Given the description of an element on the screen output the (x, y) to click on. 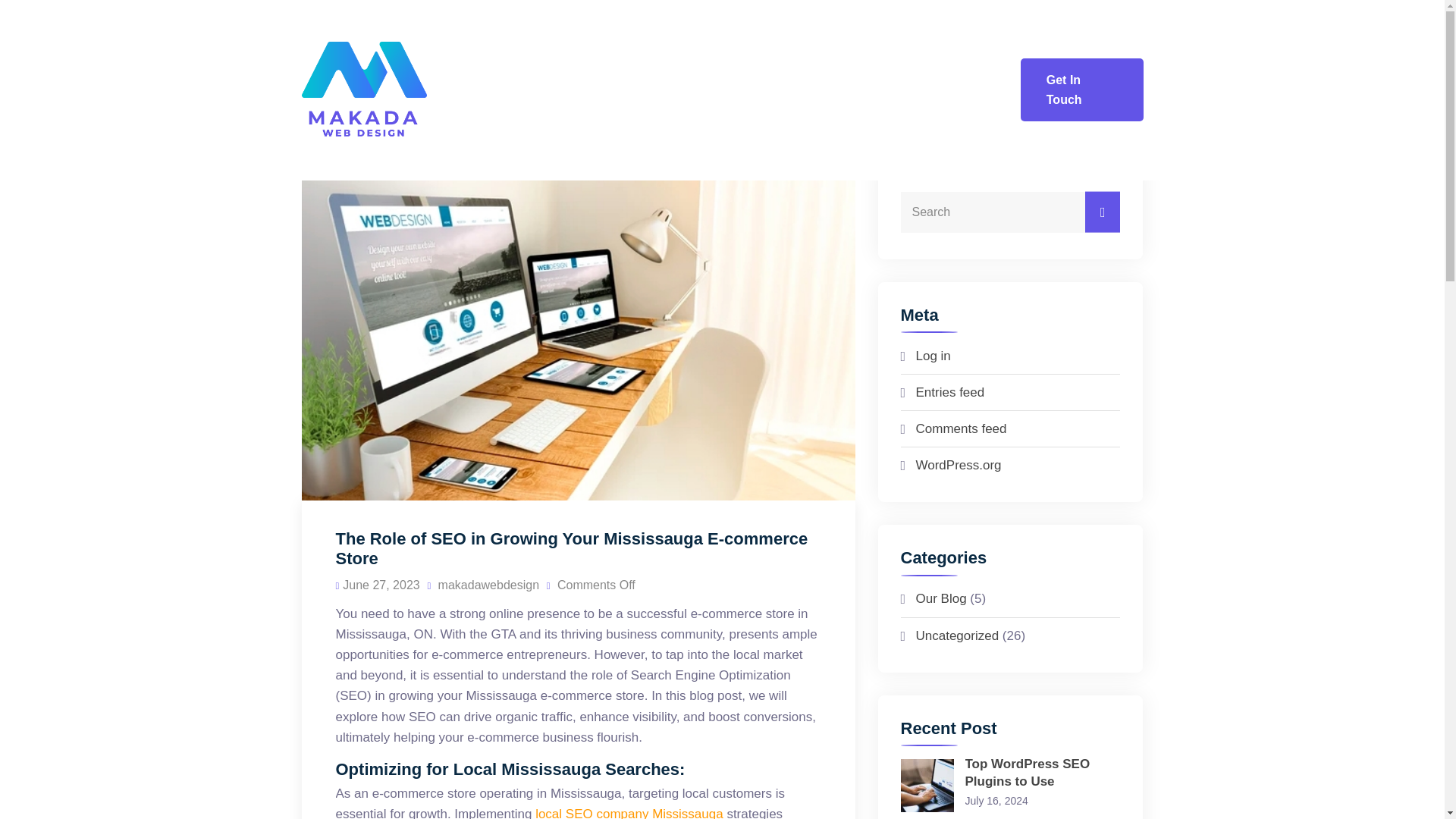
local SEO company Mississauga (629, 812)
Entries feed (950, 391)
About (659, 45)
Get In Touch (1081, 89)
Contact (972, 135)
Search for: (1011, 211)
Blog (944, 45)
Our Work (853, 45)
makadawebdesign (482, 584)
Services (748, 45)
Log in (932, 355)
Makada Web Design (398, 89)
Home (583, 45)
Comments feed (961, 428)
